Given the description of an element on the screen output the (x, y) to click on. 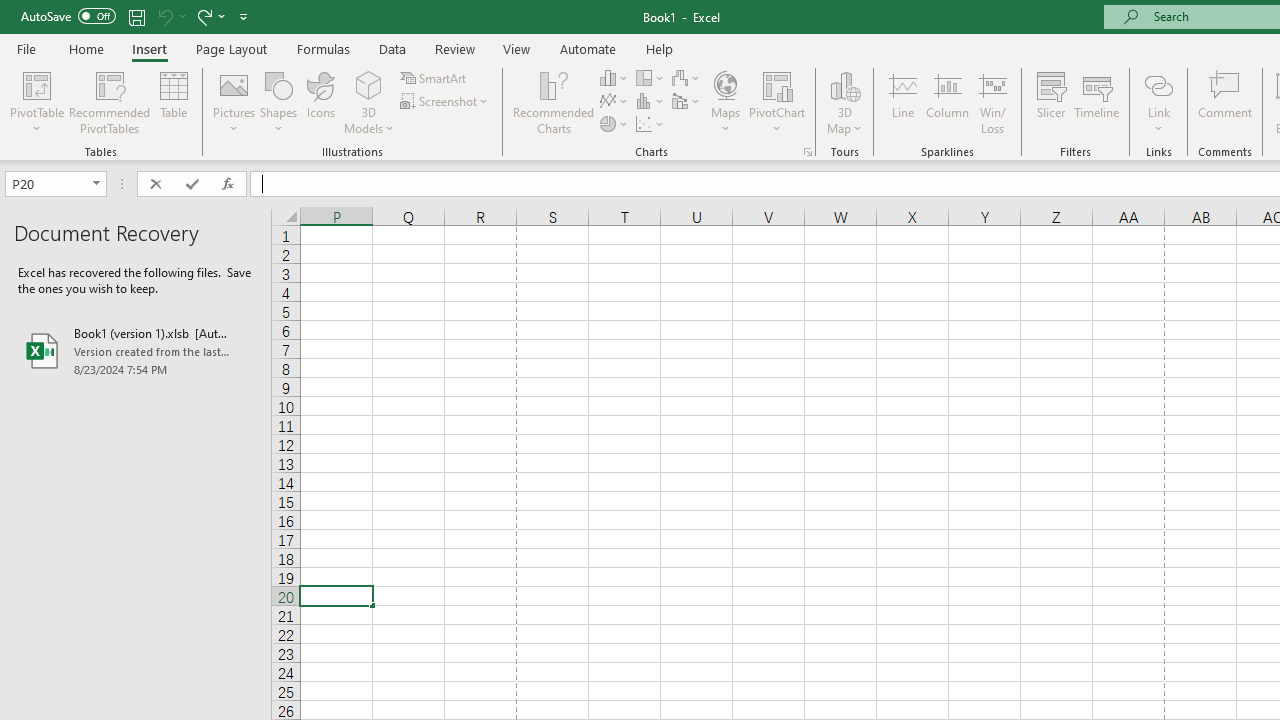
Quick Access Toolbar (136, 16)
Redo (203, 15)
3D Models (368, 84)
System (10, 11)
Table (173, 102)
Insert Waterfall, Funnel, Stock, Surface, or Radar Chart (687, 78)
Review (454, 48)
PivotChart (777, 102)
Shapes (278, 102)
File Tab (26, 48)
Help (660, 48)
Insert Column or Bar Chart (614, 78)
Insert Statistic Chart (651, 101)
PivotChart (777, 84)
More Options (1158, 121)
